Given the description of an element on the screen output the (x, y) to click on. 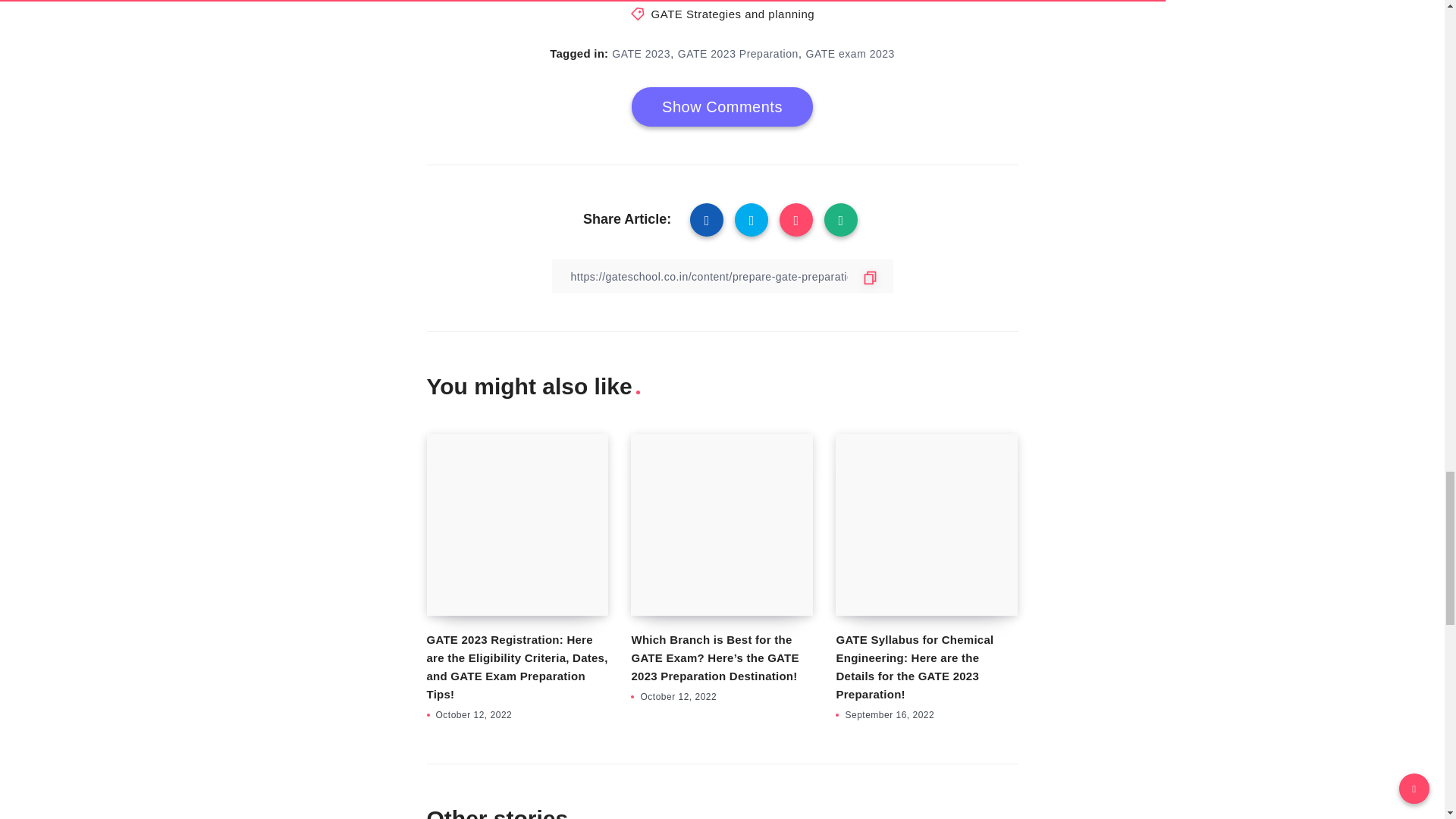
Show Comments (721, 106)
GATE exam 2023 (850, 53)
GATE 2023 (640, 53)
GATE 2023 Preparation (737, 53)
GATE Strategies and planning (732, 13)
